Given the description of an element on the screen output the (x, y) to click on. 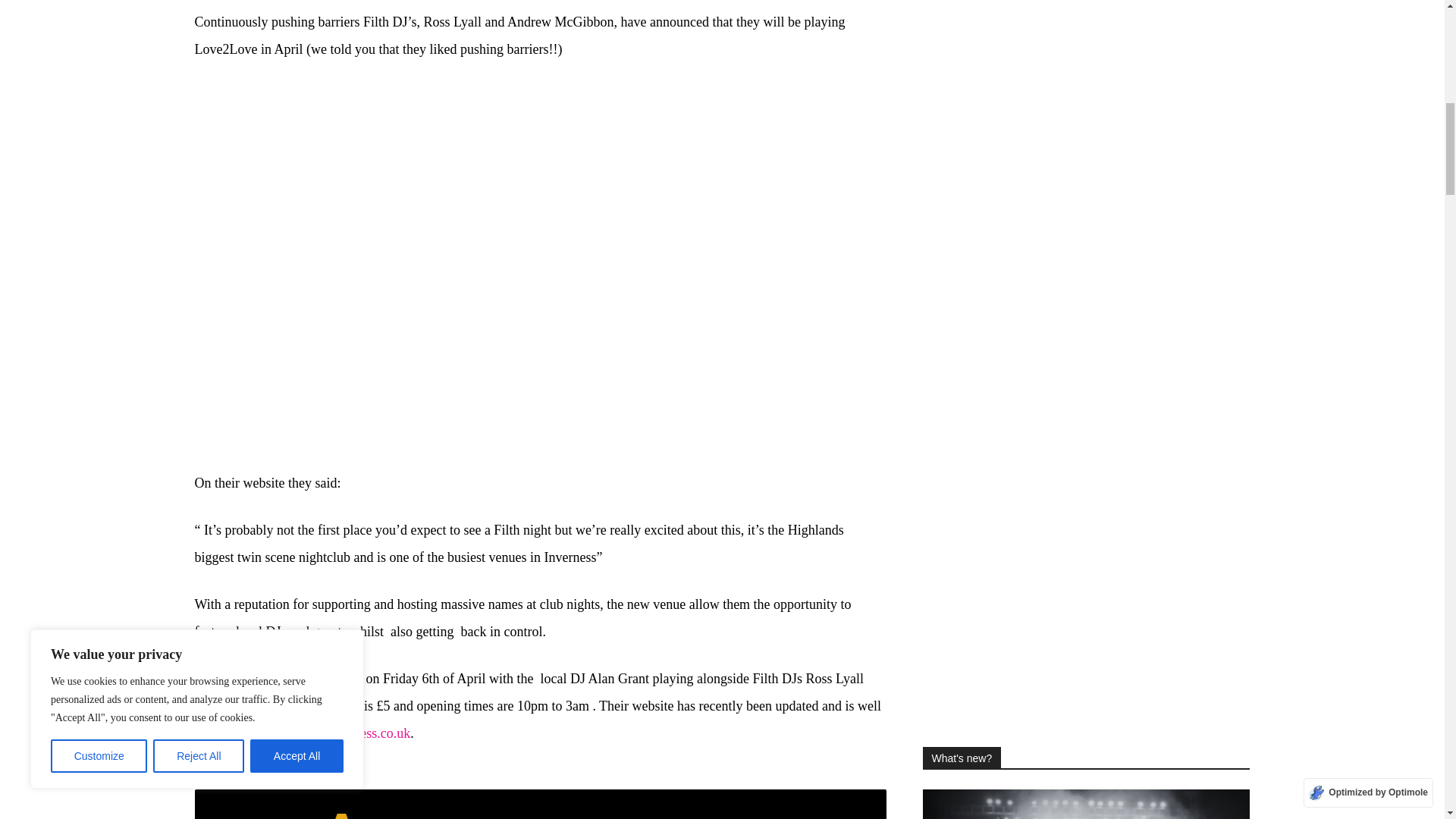
Hothouse Stage Friday Bella 24 (1085, 804)
